Given the description of an element on the screen output the (x, y) to click on. 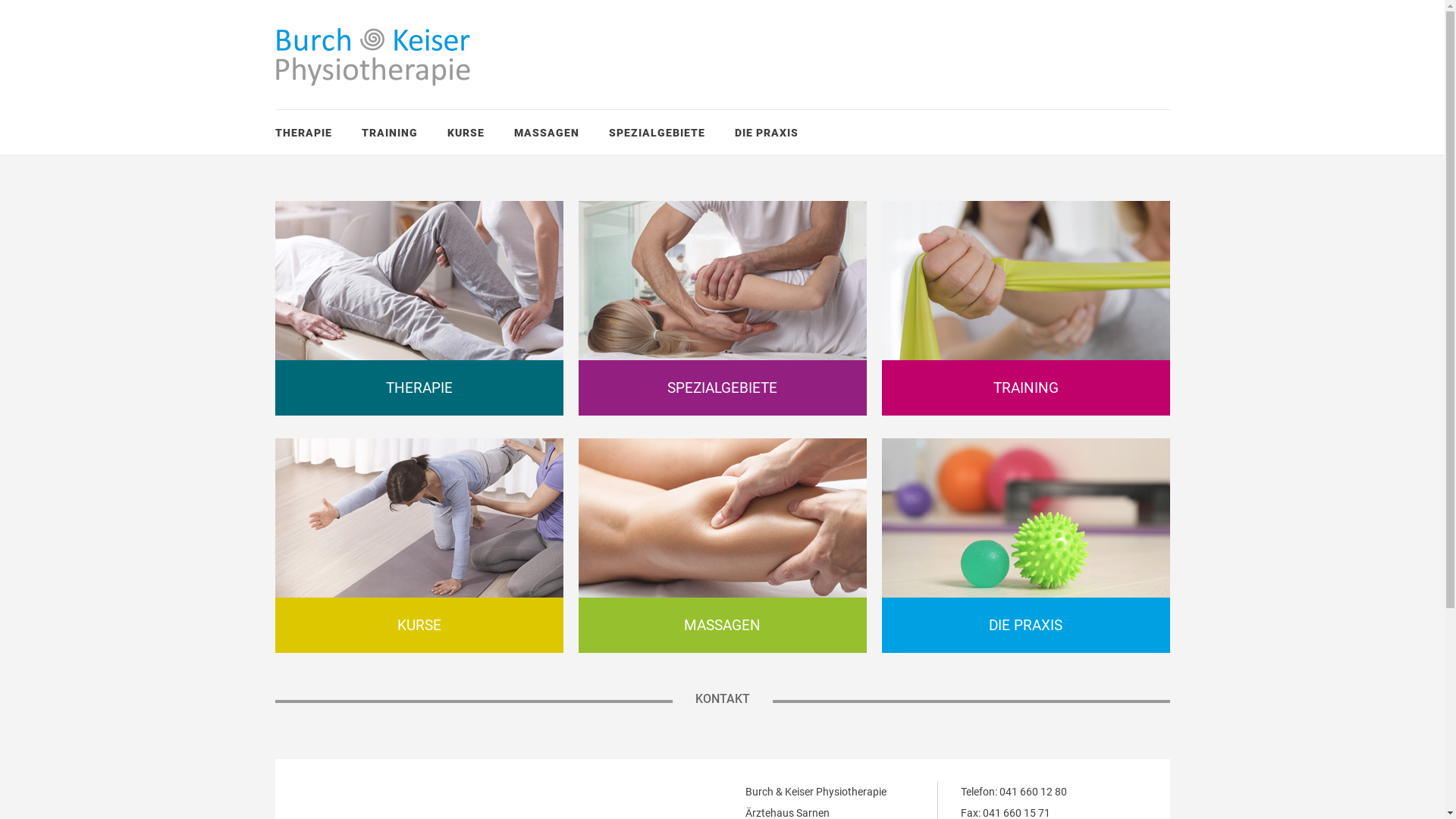
MASSAGEN Element type: text (721, 624)
DIE PRAXIS Element type: text (1025, 624)
THERAPIE Element type: text (302, 132)
SPEZIALGEBIETE Element type: text (656, 132)
MASSAGEN Element type: text (546, 132)
KURSE Element type: text (418, 624)
THERAPIE Element type: text (418, 387)
Suche Element type: text (29, 15)
SPEZIALGEBIETE Element type: text (721, 387)
KURSE Element type: text (465, 132)
DIE PRAXIS Element type: text (765, 132)
TRAINING Element type: text (1025, 387)
Burch & Keiser Element type: hover (372, 56)
TRAINING Element type: text (388, 132)
